Given the description of an element on the screen output the (x, y) to click on. 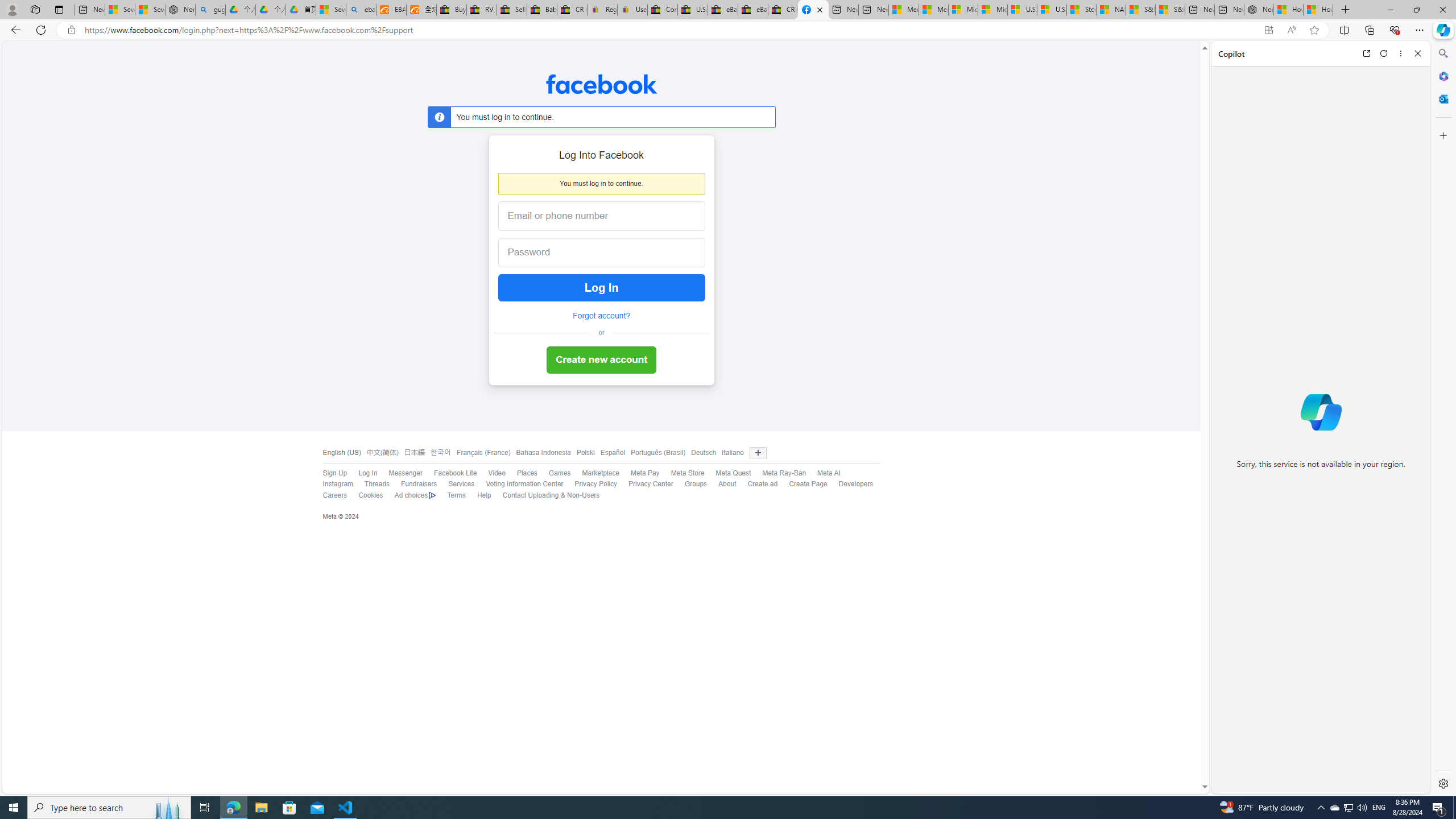
Forgot account? (601, 316)
How to Use a Monitor With Your Closed Laptop (1318, 9)
Groups (695, 483)
Threads (371, 484)
Bahasa Indonesia (542, 452)
Meta Quest (732, 473)
Help (478, 495)
Meta Pay (644, 473)
Meta AI (828, 473)
